Given the description of an element on the screen output the (x, y) to click on. 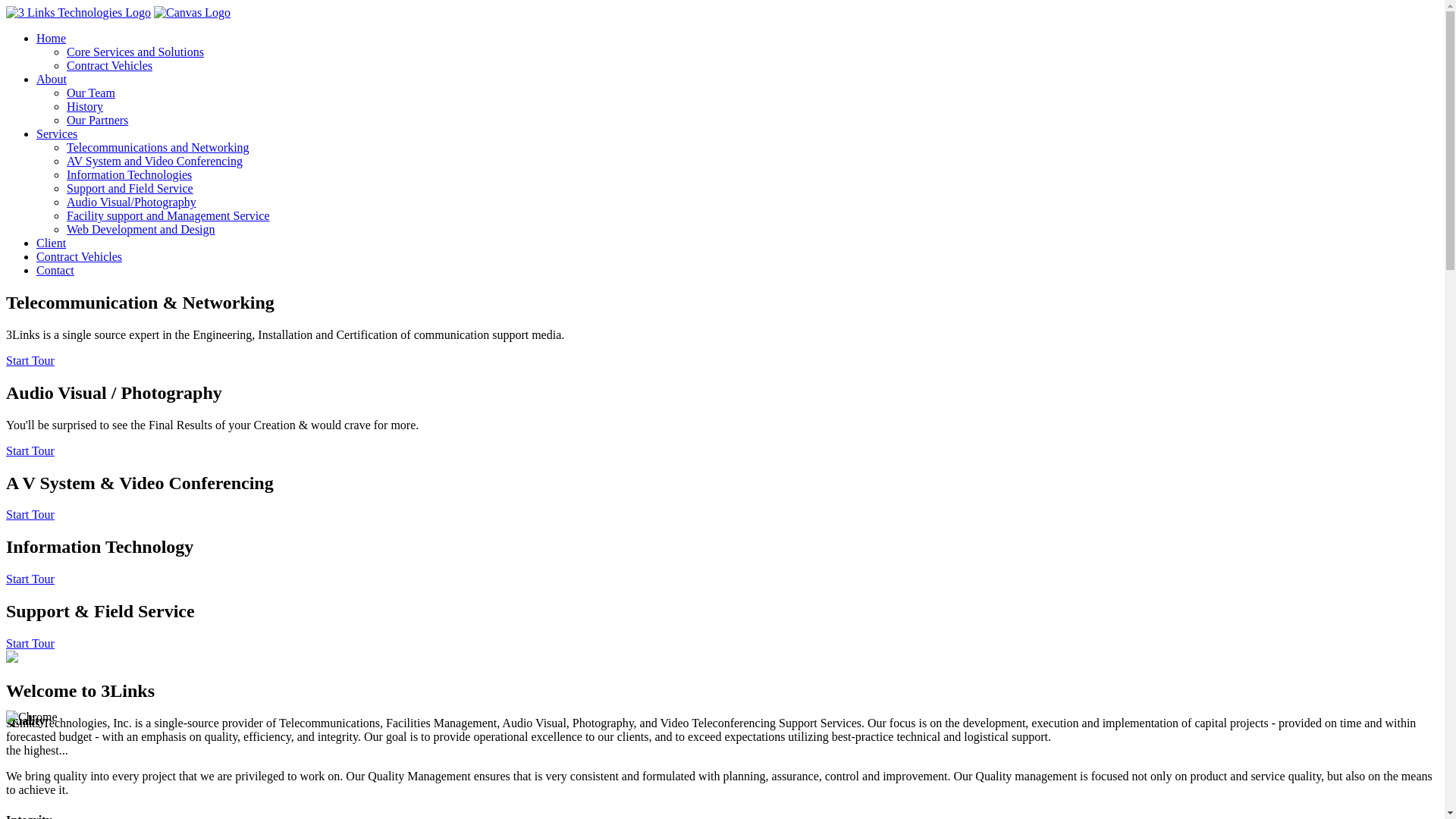
Core Services and Solutions Element type: text (752, 52)
Support and Field Service Element type: text (752, 188)
Web Development and Design Element type: text (752, 229)
Start Tour Element type: text (30, 450)
Client Element type: text (737, 243)
Home Element type: text (737, 38)
Contract Vehicles Element type: text (737, 256)
Telecommunications and Networking Element type: text (752, 147)
Start Tour Element type: text (30, 643)
Audio Visual/Photography Element type: text (752, 202)
Contact Element type: text (737, 270)
Start Tour Element type: text (30, 514)
Our Team Element type: text (752, 93)
Start Tour Element type: text (30, 578)
Contract Vehicles Element type: text (752, 65)
About Element type: text (737, 79)
Start Tour Element type: text (30, 360)
History Element type: text (752, 106)
Services Element type: text (737, 134)
Facility support and Management Service Element type: text (752, 215)
Our Partners Element type: text (752, 120)
AV System and Video Conferencing Element type: text (752, 161)
Information Technologies Element type: text (752, 175)
